Given the description of an element on the screen output the (x, y) to click on. 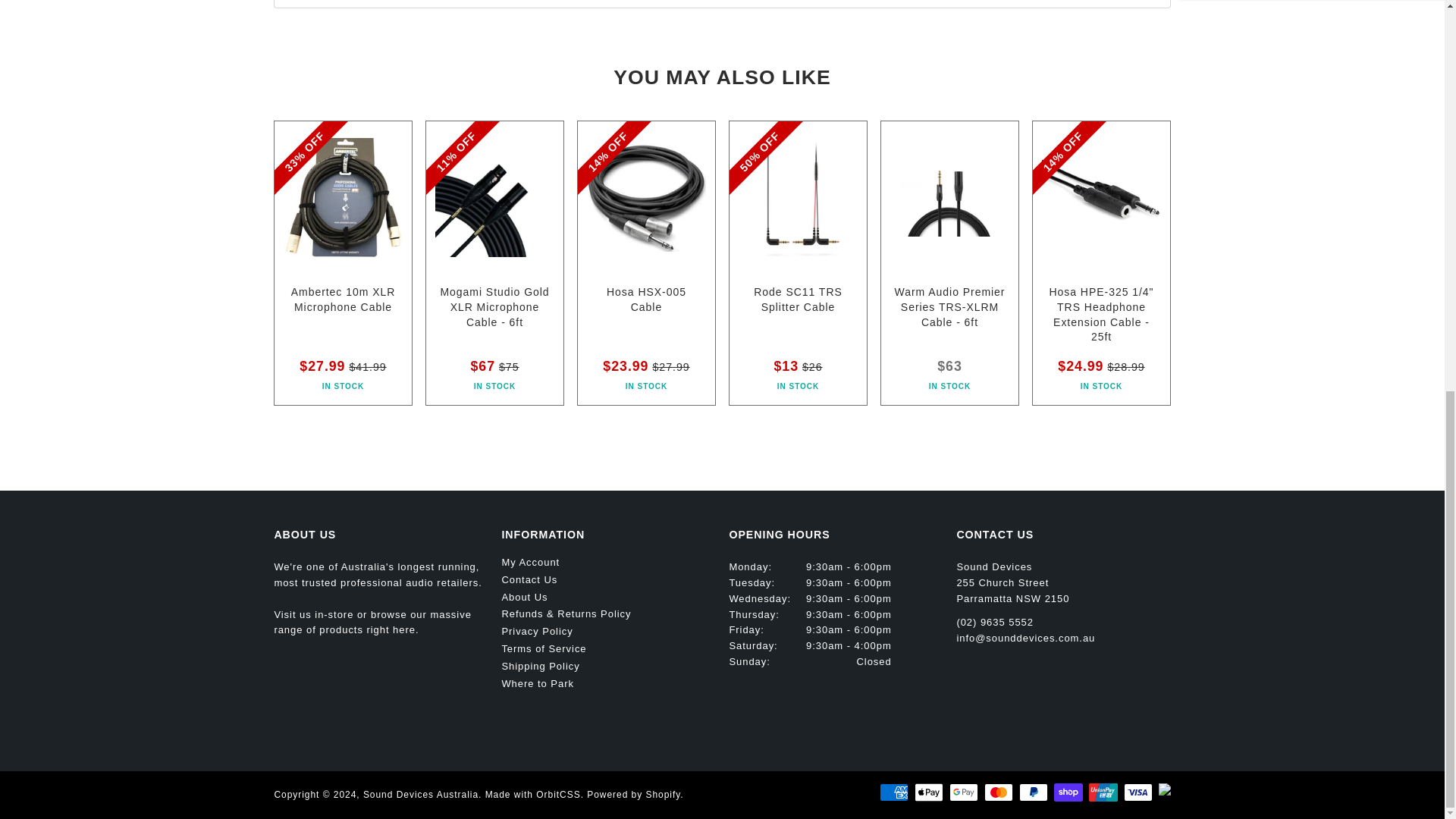
Mastercard (998, 791)
PayPal (1033, 791)
Google Pay (963, 791)
Union Pay (1103, 791)
American Express (893, 791)
Visa (1138, 791)
Apple Pay (928, 791)
Shop Pay (1068, 791)
